Given the description of an element on the screen output the (x, y) to click on. 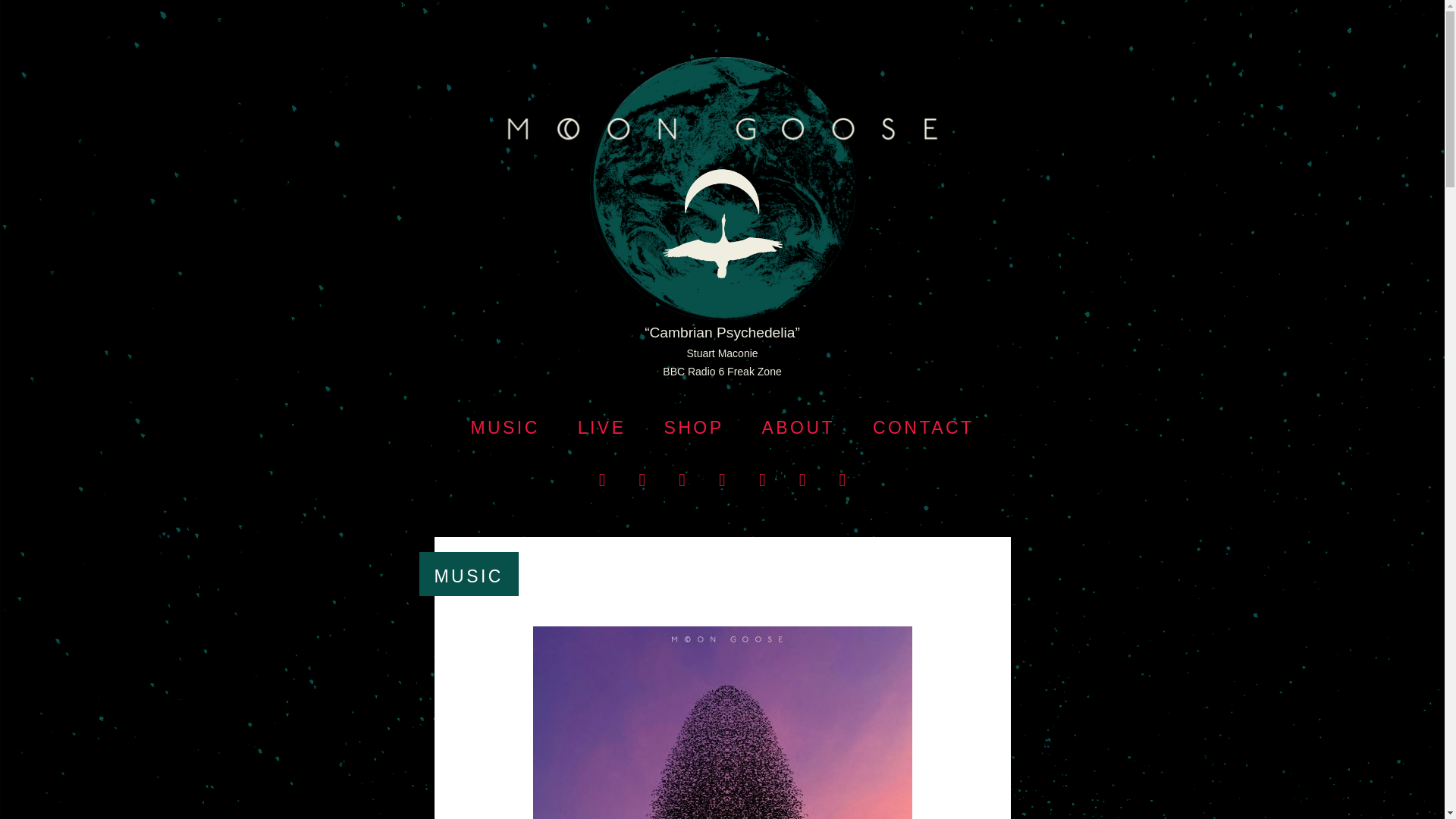
CONTACT (923, 427)
ABOUT (797, 427)
MUSIC (504, 427)
LIVE (602, 427)
SHOP (693, 427)
